Given the description of an element on the screen output the (x, y) to click on. 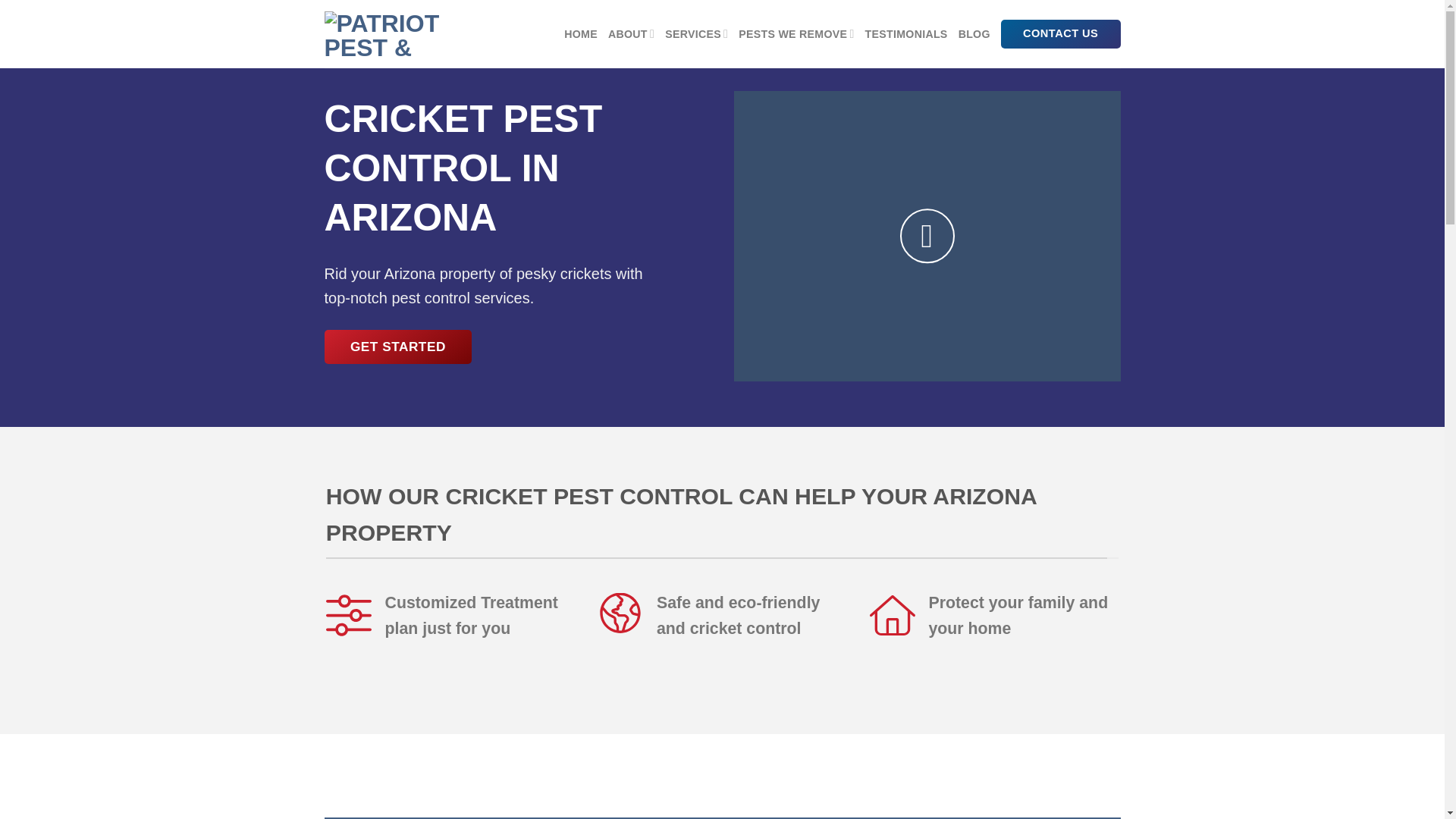
BLOG (974, 33)
PESTS WE REMOVE (795, 33)
HOME (580, 33)
ABOUT (630, 33)
SERVICES (696, 33)
GET STARTED (397, 346)
CONTACT US (1061, 33)
TESTIMONIALS (905, 33)
